Given the description of an element on the screen output the (x, y) to click on. 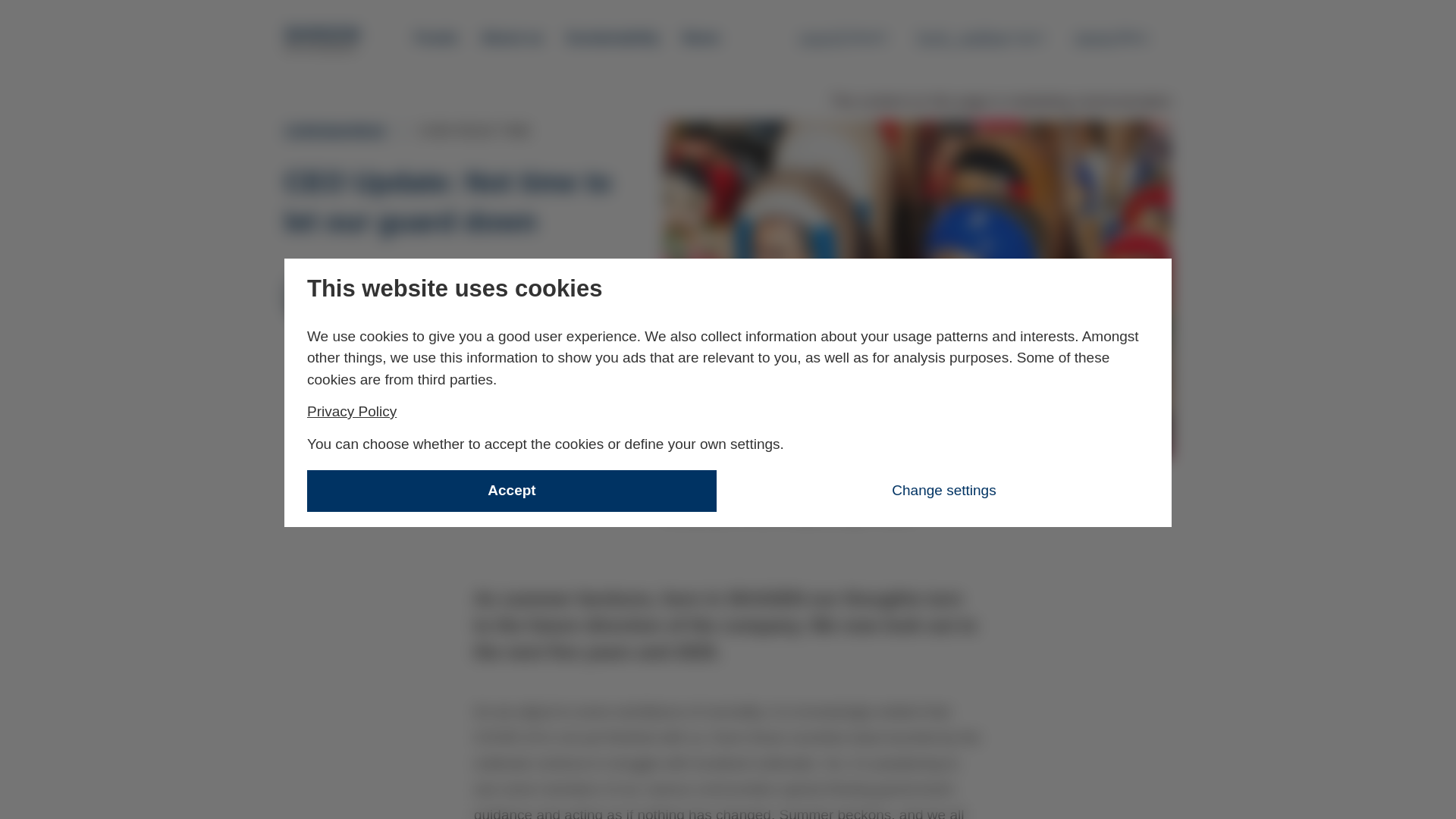
Timothy Warrington (1121, 37)
Sustainability (842, 37)
About us (427, 281)
Funds (612, 37)
SKAGEN Funds (511, 37)
Global Stock Markets (436, 37)
